Given the description of an element on the screen output the (x, y) to click on. 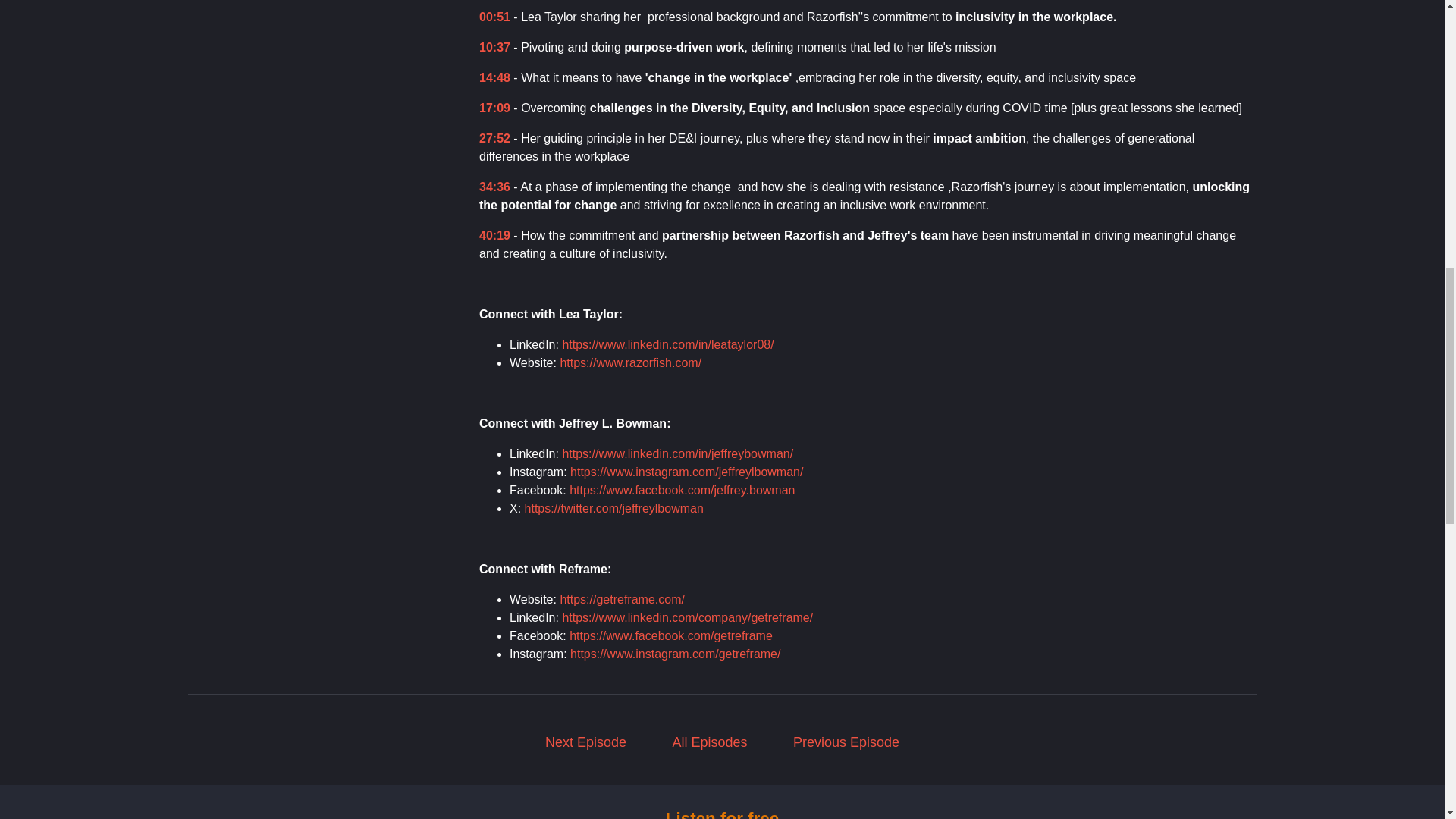
27:52 (495, 137)
14:48 (495, 77)
Previous Episode (845, 742)
00:51 (495, 16)
All Episodes (709, 742)
Next Episode (585, 742)
40:19 (495, 235)
10:37 (495, 47)
34:36 (495, 186)
17:09 (495, 107)
